Given the description of an element on the screen output the (x, y) to click on. 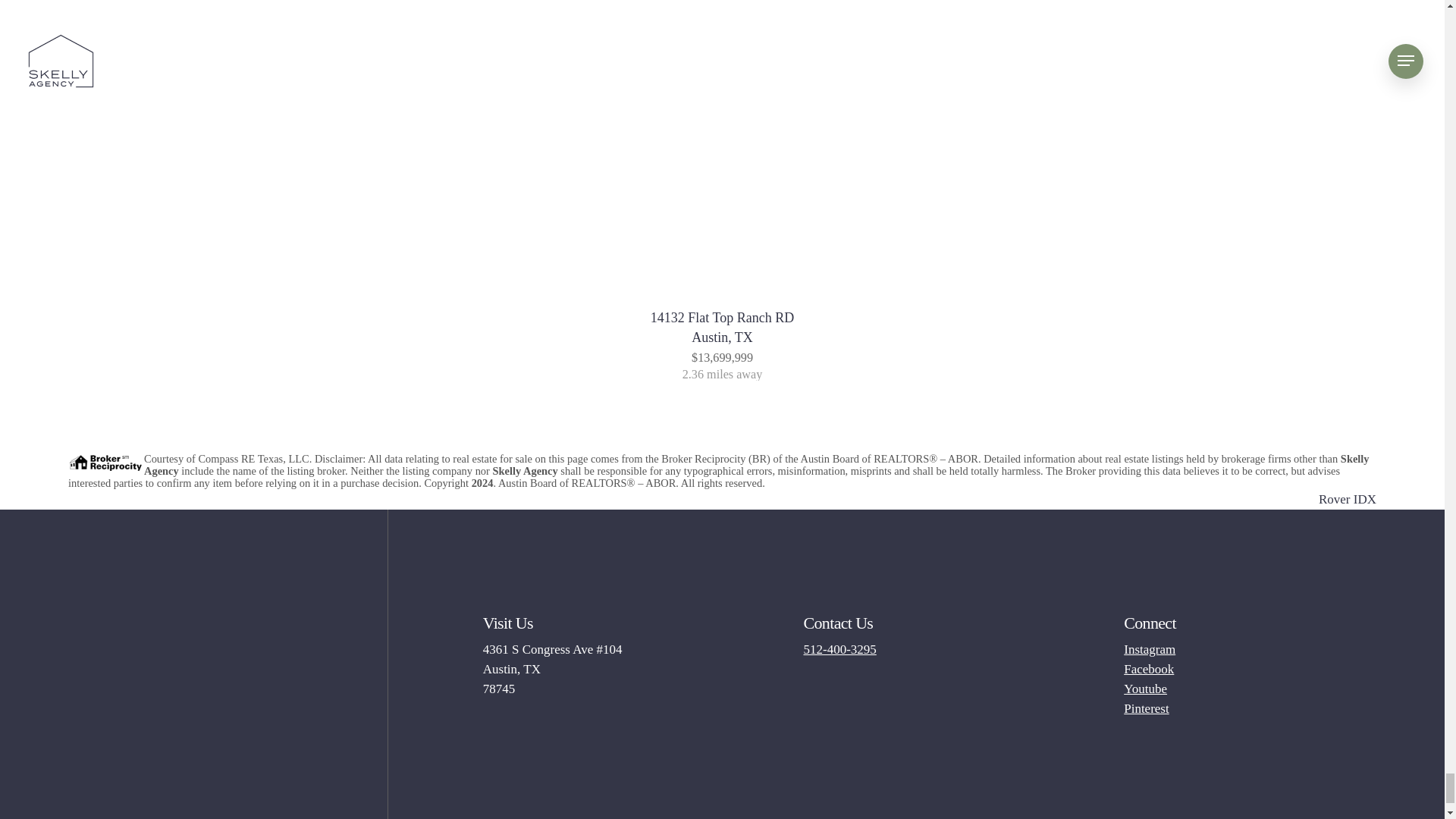
Youtube (1145, 688)
512-400-3295 (839, 649)
Instagram (721, 327)
Pinterest (1149, 649)
Rover IDX (1146, 708)
Facebook (1347, 499)
Rover IDX 3.0.0 (1148, 668)
14132 Flat Top Ranch RD (1347, 499)
